Given the description of an element on the screen output the (x, y) to click on. 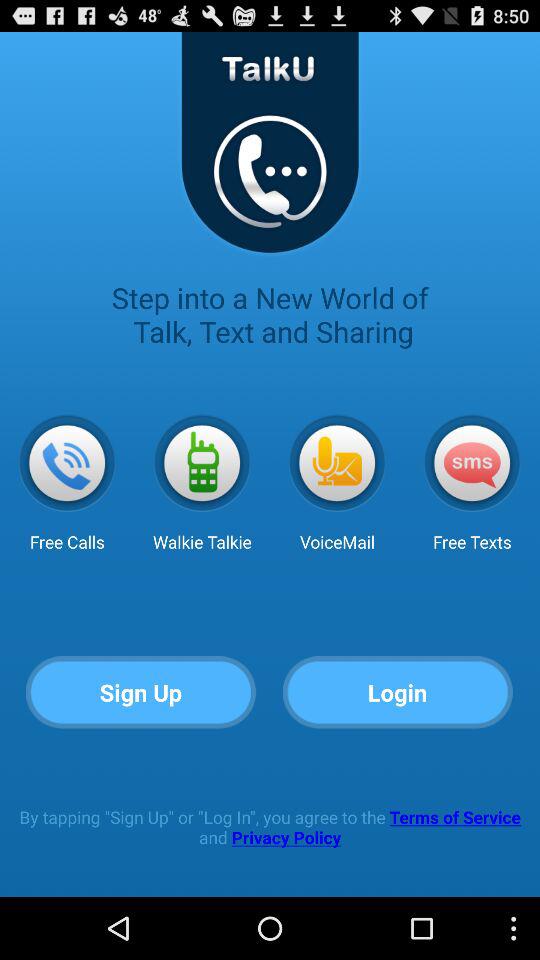
turn on item below the sign up (269, 826)
